Given the description of an element on the screen output the (x, y) to click on. 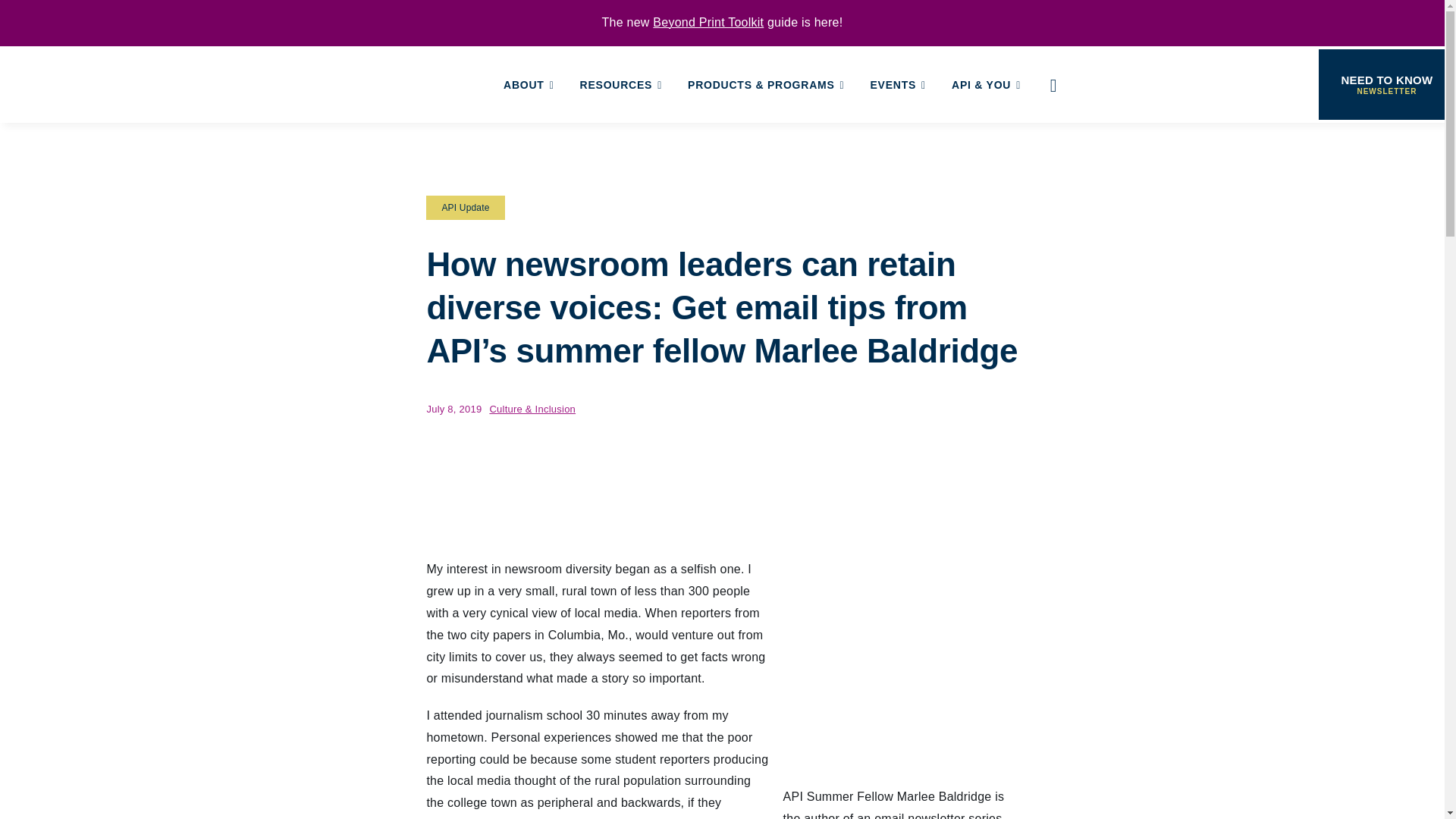
Beyond Print Toolkit (707, 21)
EVENTS (897, 84)
ABOUT (528, 84)
RESOURCES (620, 84)
